Given the description of an element on the screen output the (x, y) to click on. 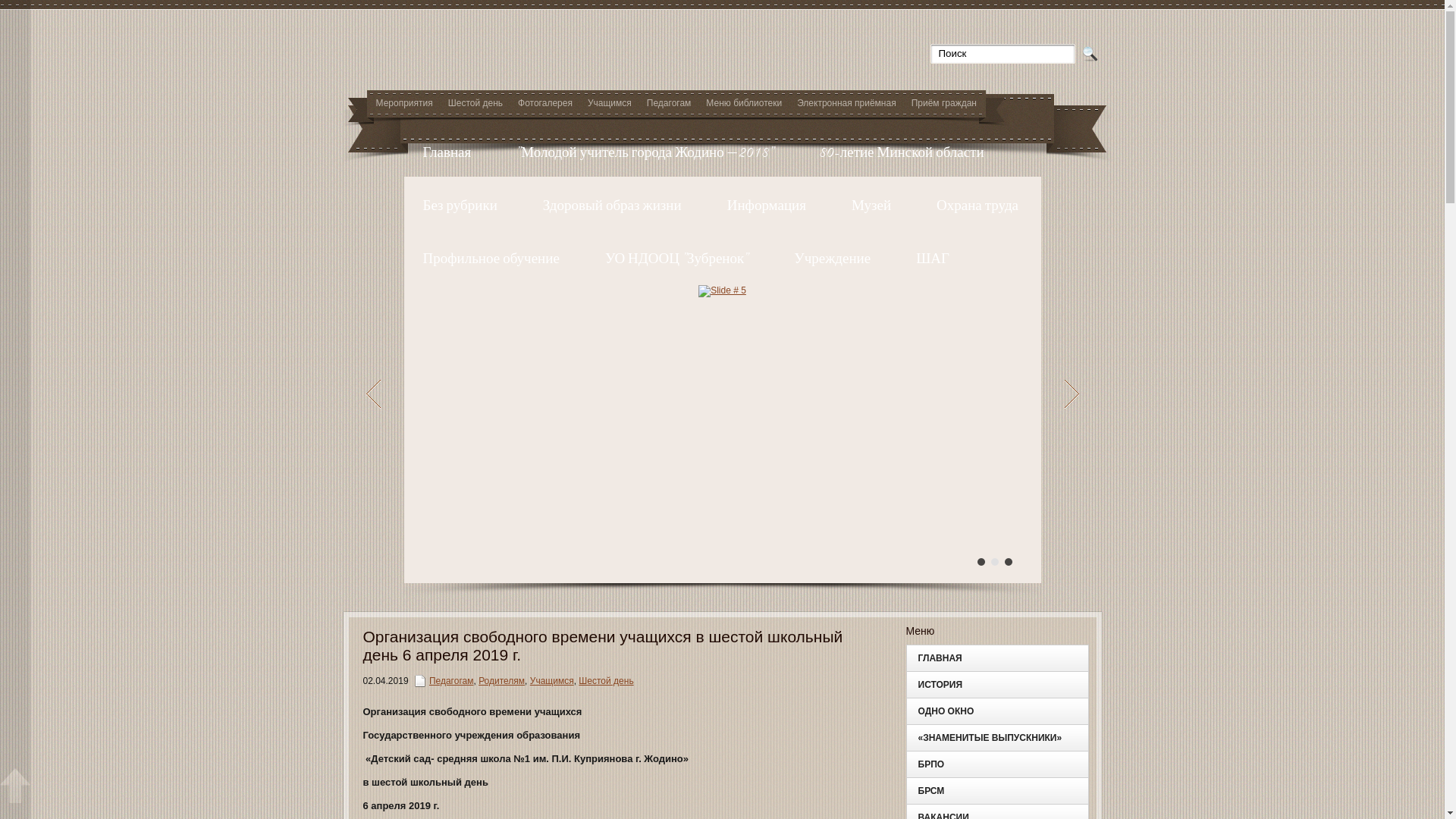
2 Element type: text (993, 561)
3 Element type: text (1007, 561)
Scroll window up Element type: hover (15, 785)
1 Element type: text (980, 561)
